Given the description of an element on the screen output the (x, y) to click on. 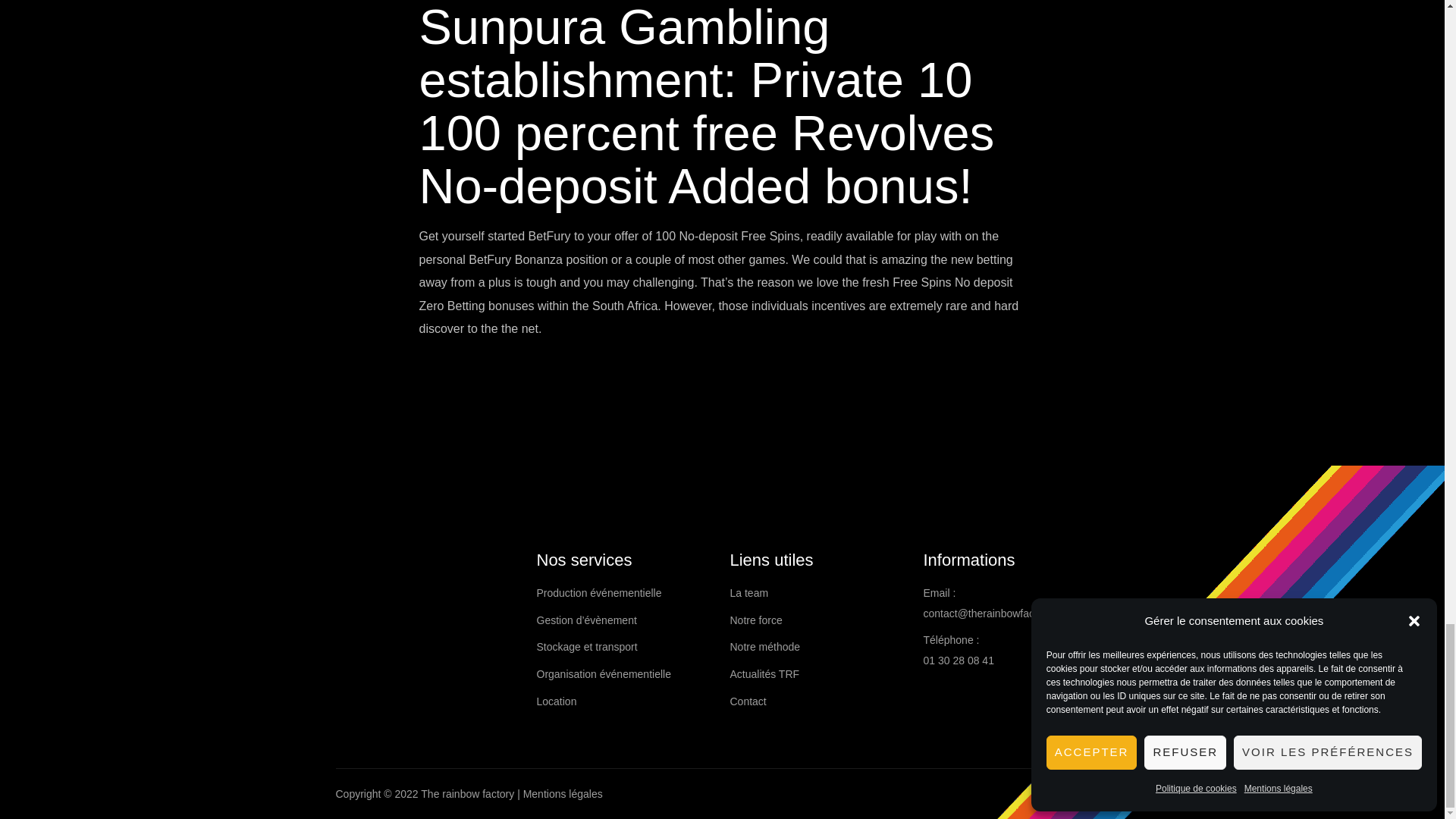
Nos services (625, 559)
Informations (1012, 559)
Liens utiles (818, 559)
